Given the description of an element on the screen output the (x, y) to click on. 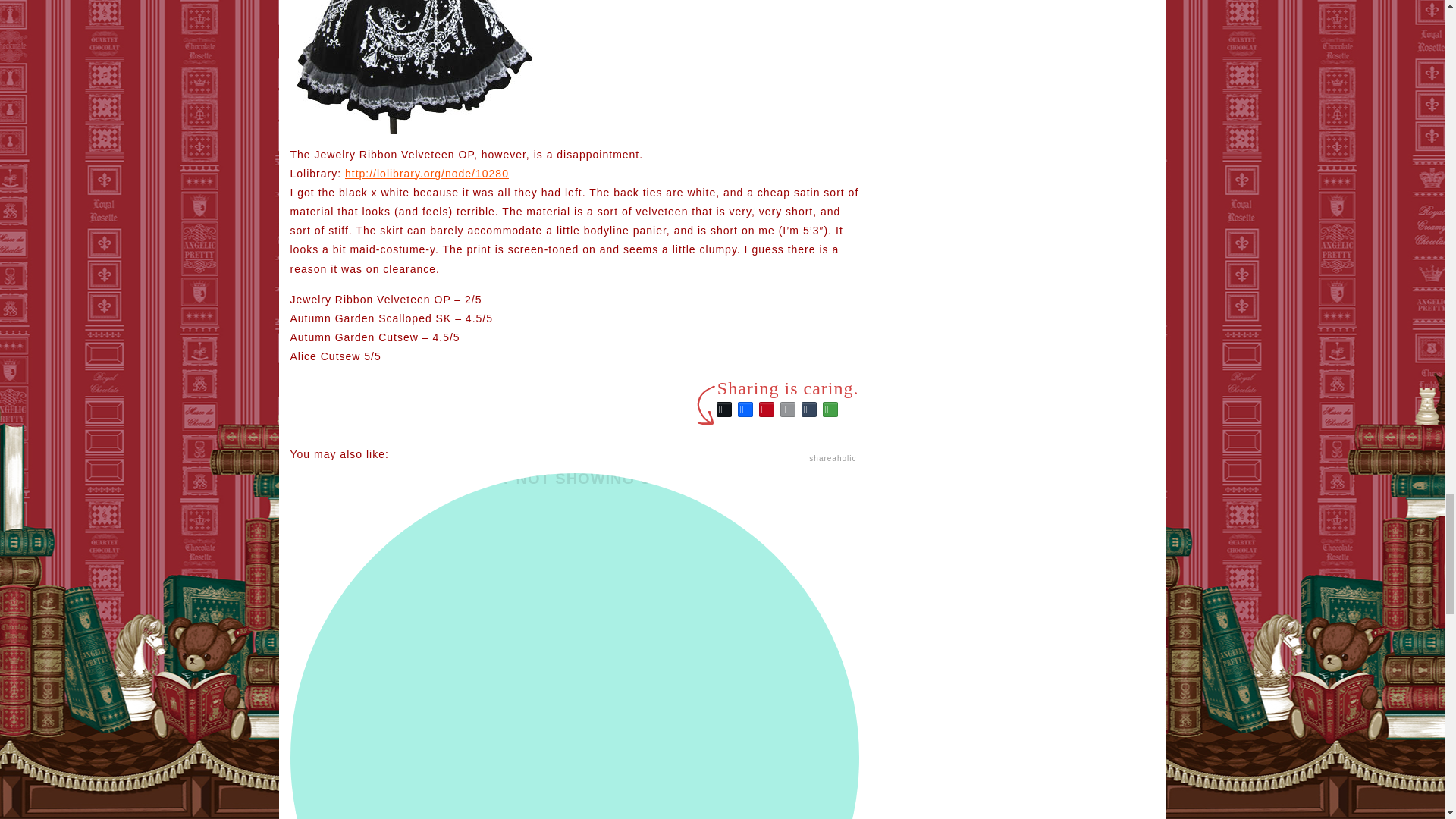
Facebook (745, 409)
15240086bkwh (413, 67)
Email This (787, 409)
Tumblr (808, 409)
More Options (830, 409)
Website Tools by Shareaholic (832, 458)
shareaholic (832, 458)
Pinterest (766, 409)
